Given the description of an element on the screen output the (x, y) to click on. 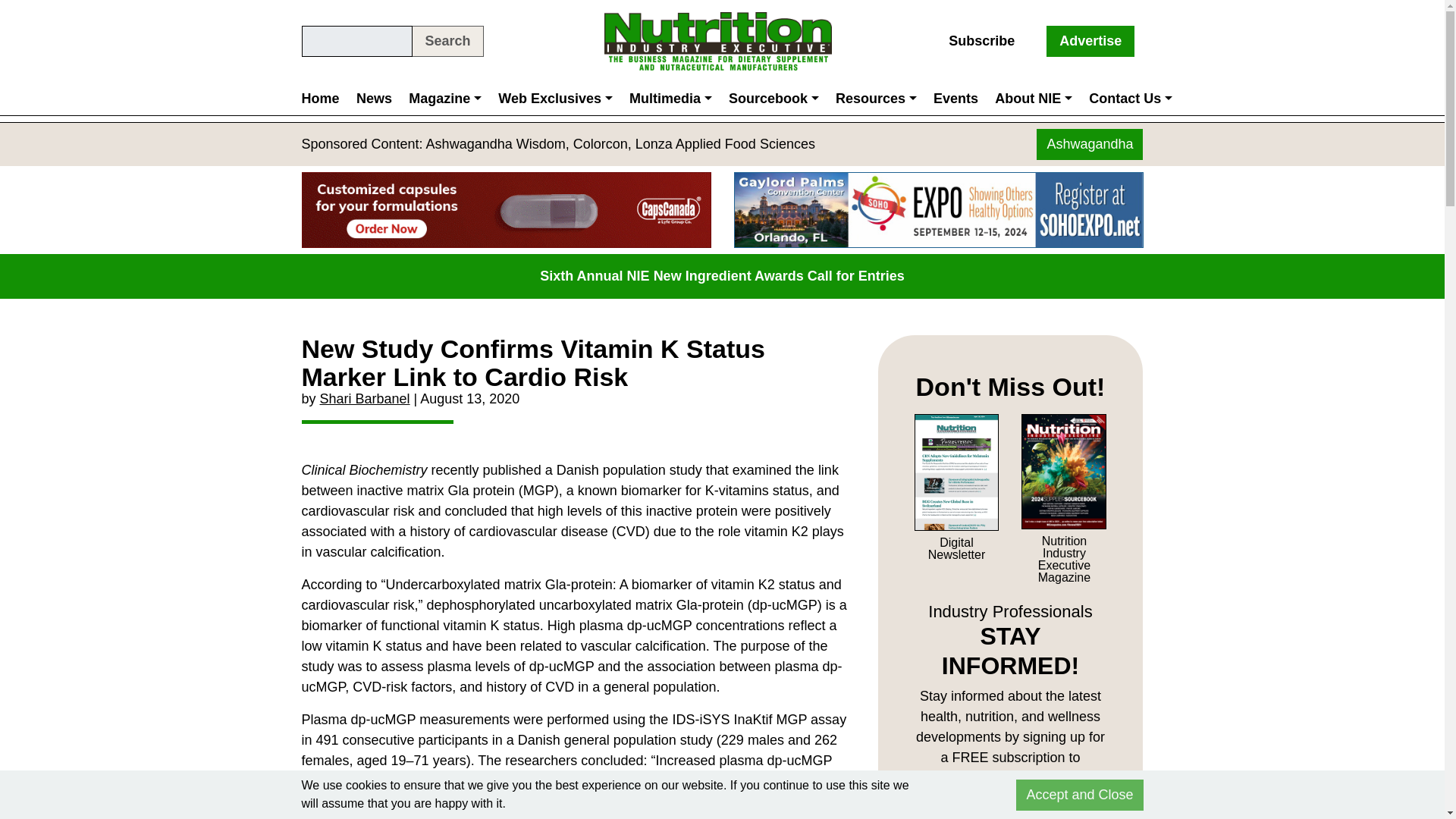
Sourcebook (773, 98)
Web Exclusives (555, 98)
About NIE (1033, 98)
Events (955, 98)
Multimedia (670, 98)
Contact Us (1130, 98)
Home (324, 98)
Multimedia (670, 98)
Sourcebook (773, 98)
Magazine (444, 98)
Home (324, 98)
Resources (875, 98)
Resources (875, 98)
Web Exclusives (555, 98)
News (373, 98)
